Given the description of an element on the screen output the (x, y) to click on. 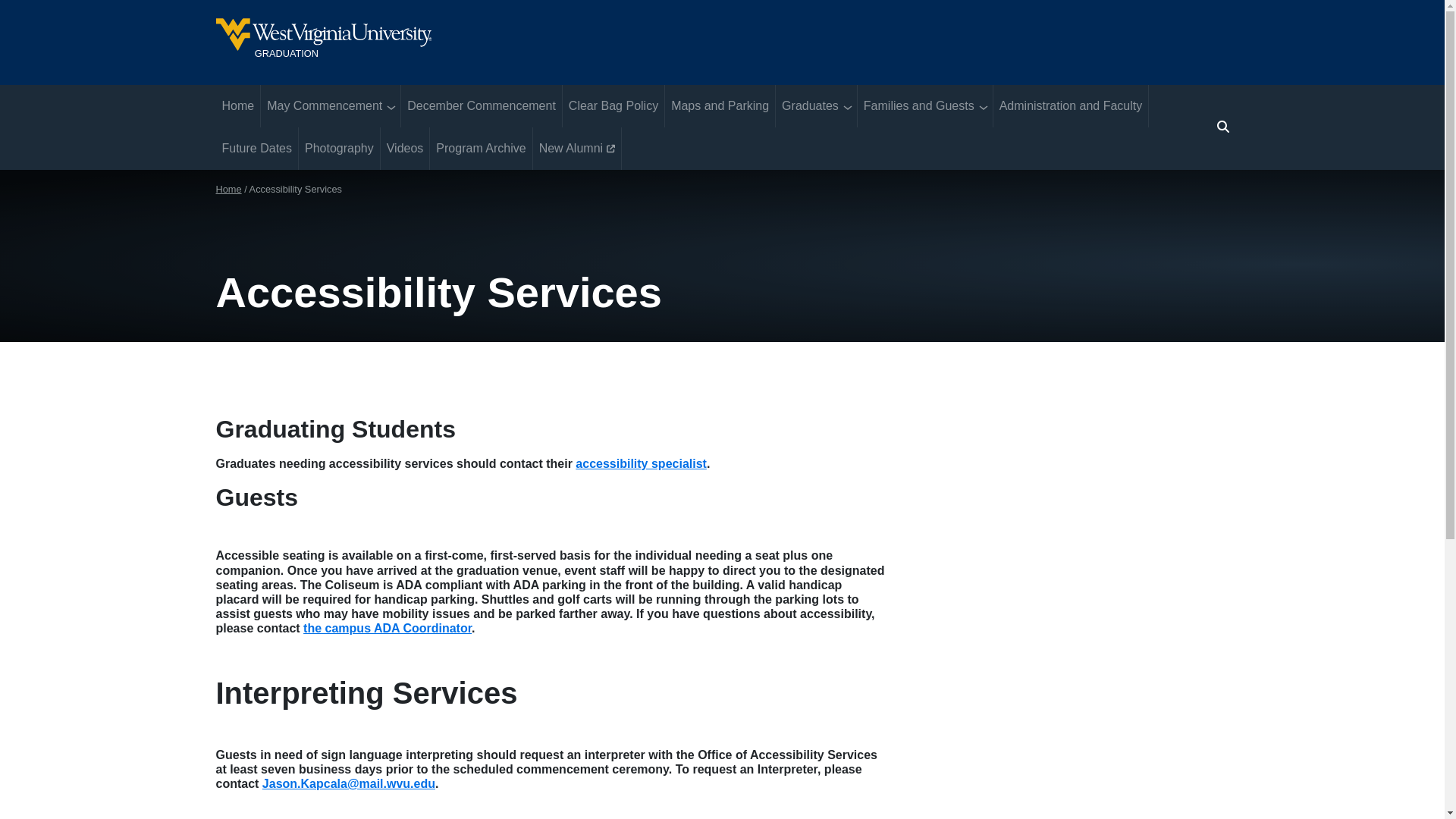
accessibility specialist (640, 463)
Maps and Parking (719, 106)
Graduates (807, 106)
Home (228, 188)
Photography (339, 148)
Program Archive (480, 148)
the campus ADA Coordinator (386, 627)
December Commencement (481, 106)
Videos (404, 148)
Families and Guests (915, 106)
Future Dates (256, 148)
Clear Bag Policy (612, 106)
Administration and Faculty (1070, 106)
New Alumni (576, 148)
May Commencement (320, 106)
